Given the description of an element on the screen output the (x, y) to click on. 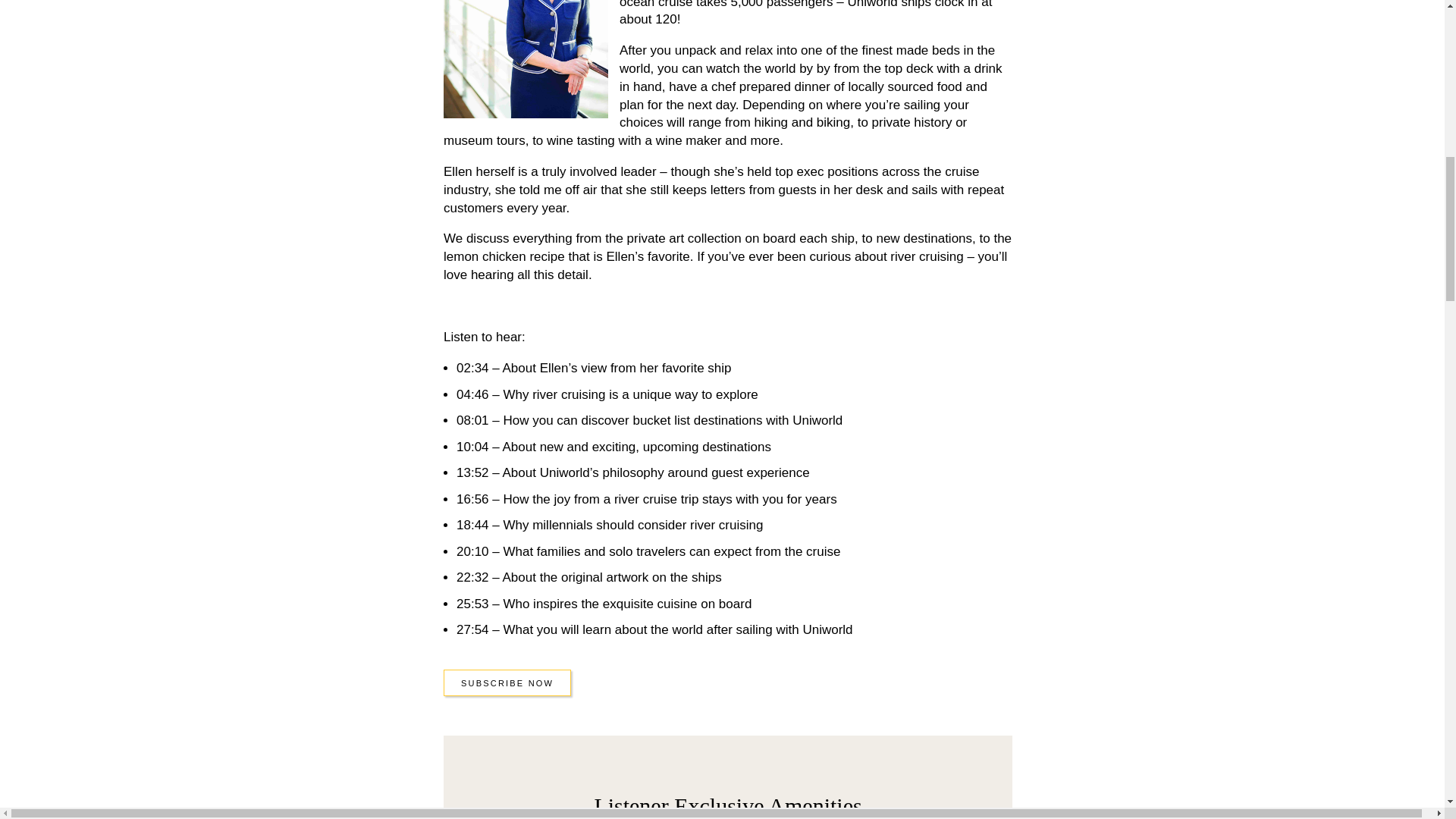
SUBSCRIBE NOW (507, 682)
